Given the description of an element on the screen output the (x, y) to click on. 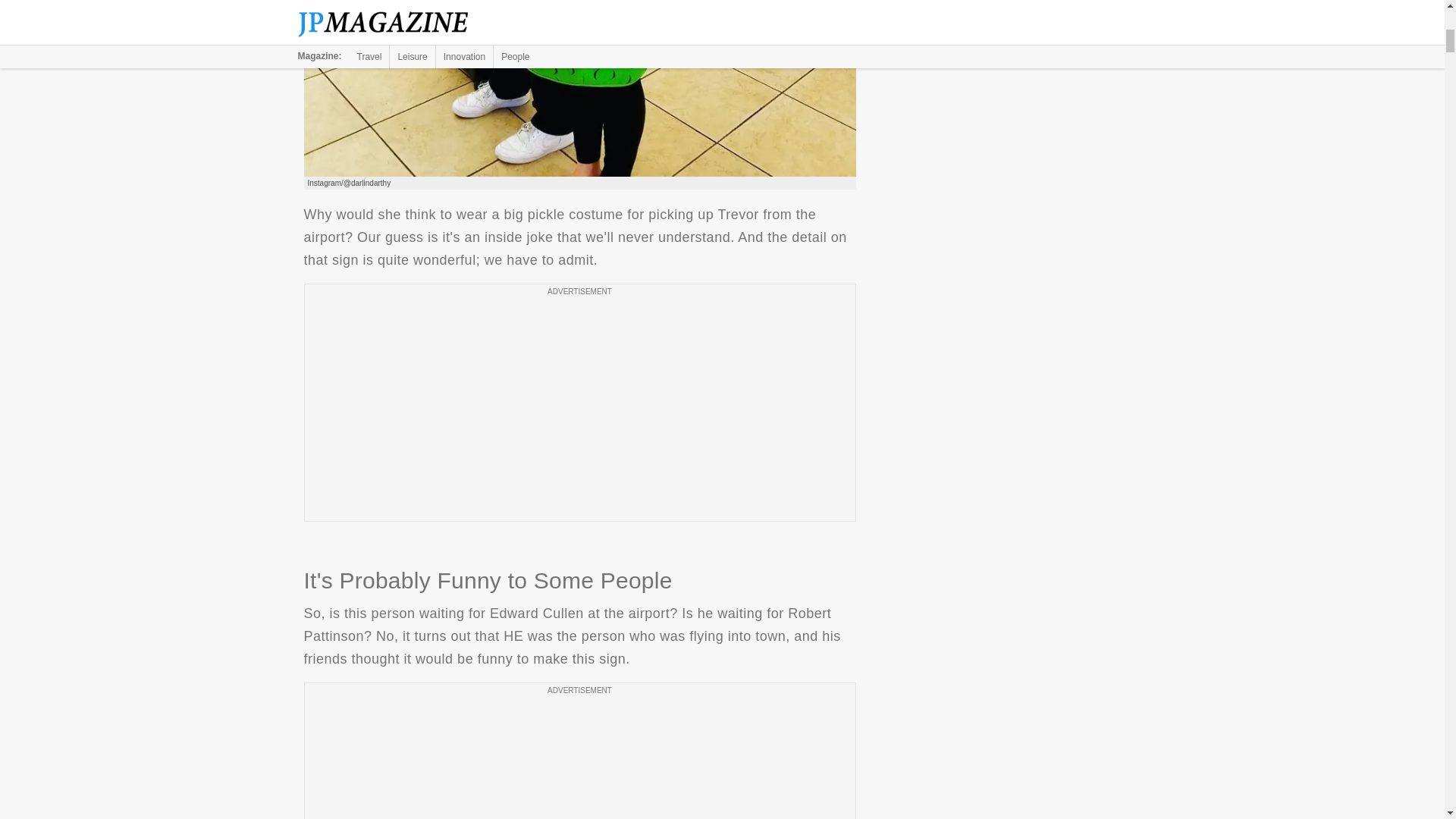
Hard to Miss (579, 88)
